Given the description of an element on the screen output the (x, y) to click on. 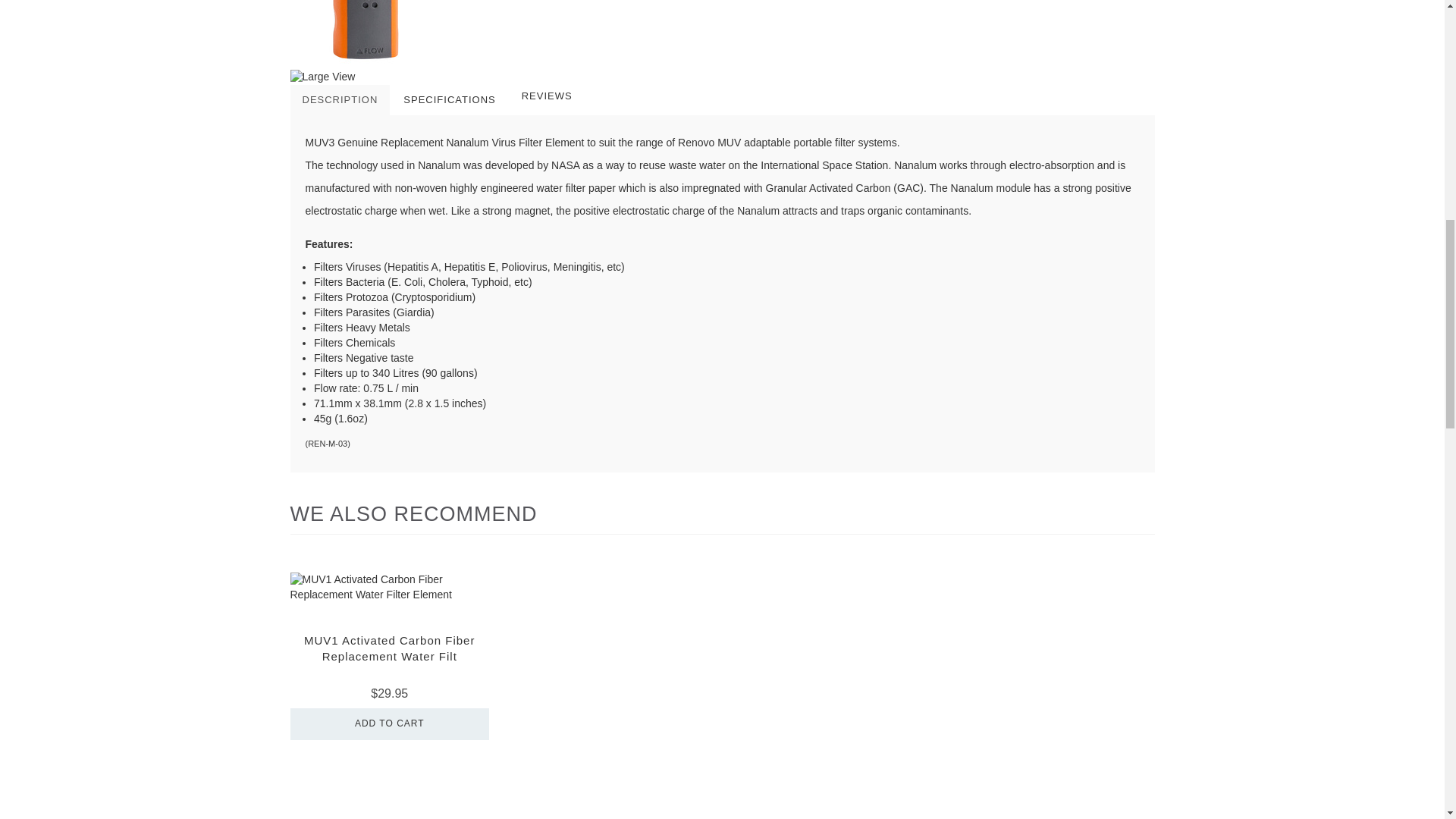
Large View (445, 77)
Add to Cart (389, 724)
MUV1 Activated Carbon Fiber Replacement Water Filter Element (389, 647)
